Given the description of an element on the screen output the (x, y) to click on. 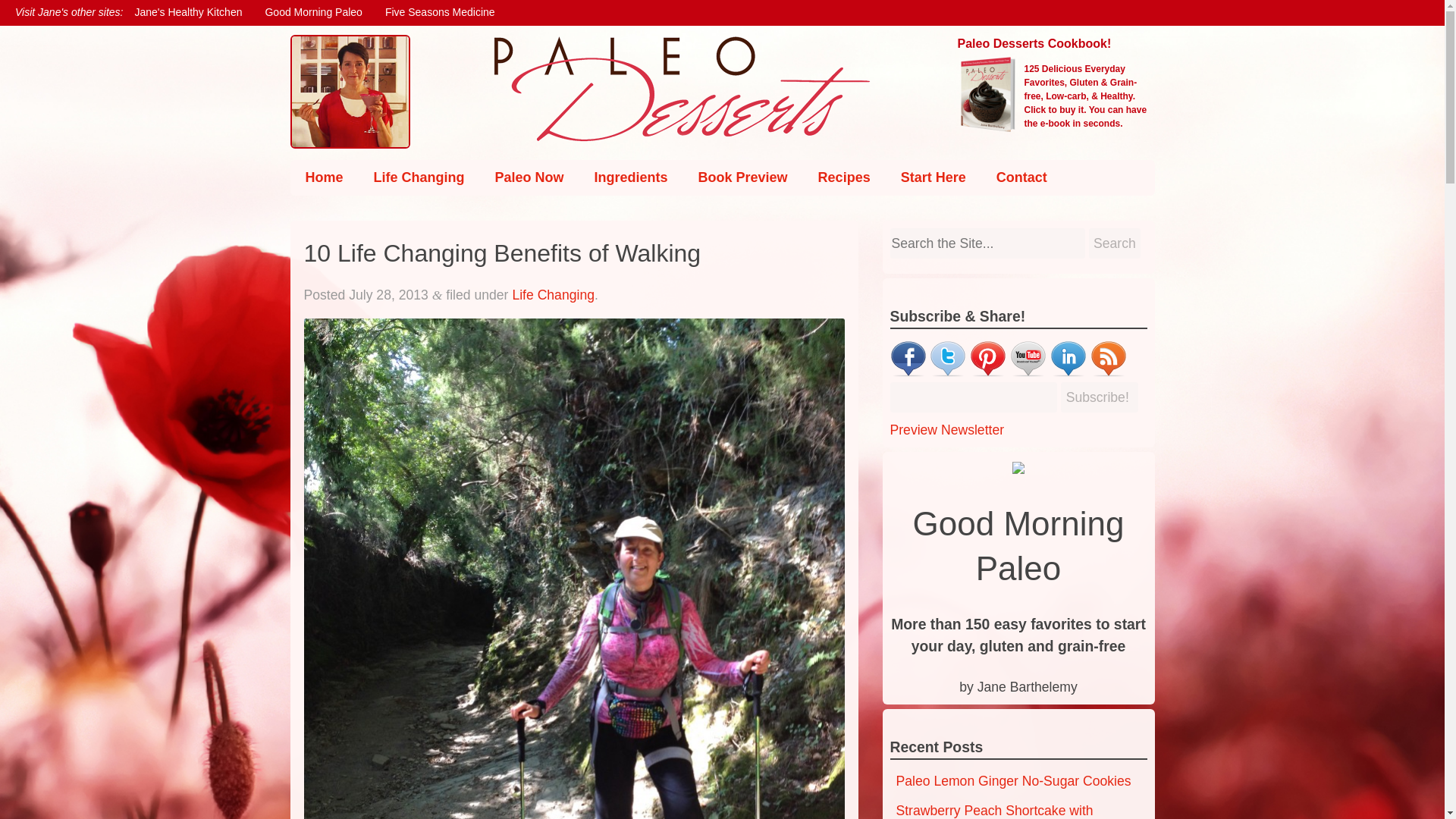
Jane's Healthy Kitchen (187, 12)
Pinterest (987, 372)
RSS (1108, 372)
Life Changing (419, 177)
LinkedIn (1067, 372)
Paleo Now (529, 177)
Facebook (907, 372)
Home (323, 177)
Search (1114, 243)
YouTube (1028, 372)
Twitter (948, 372)
Subscribe!  (1099, 397)
Ingredients (630, 177)
Good Morning Paleo (312, 12)
Five Seasons Medicine (440, 12)
